Given the description of an element on the screen output the (x, y) to click on. 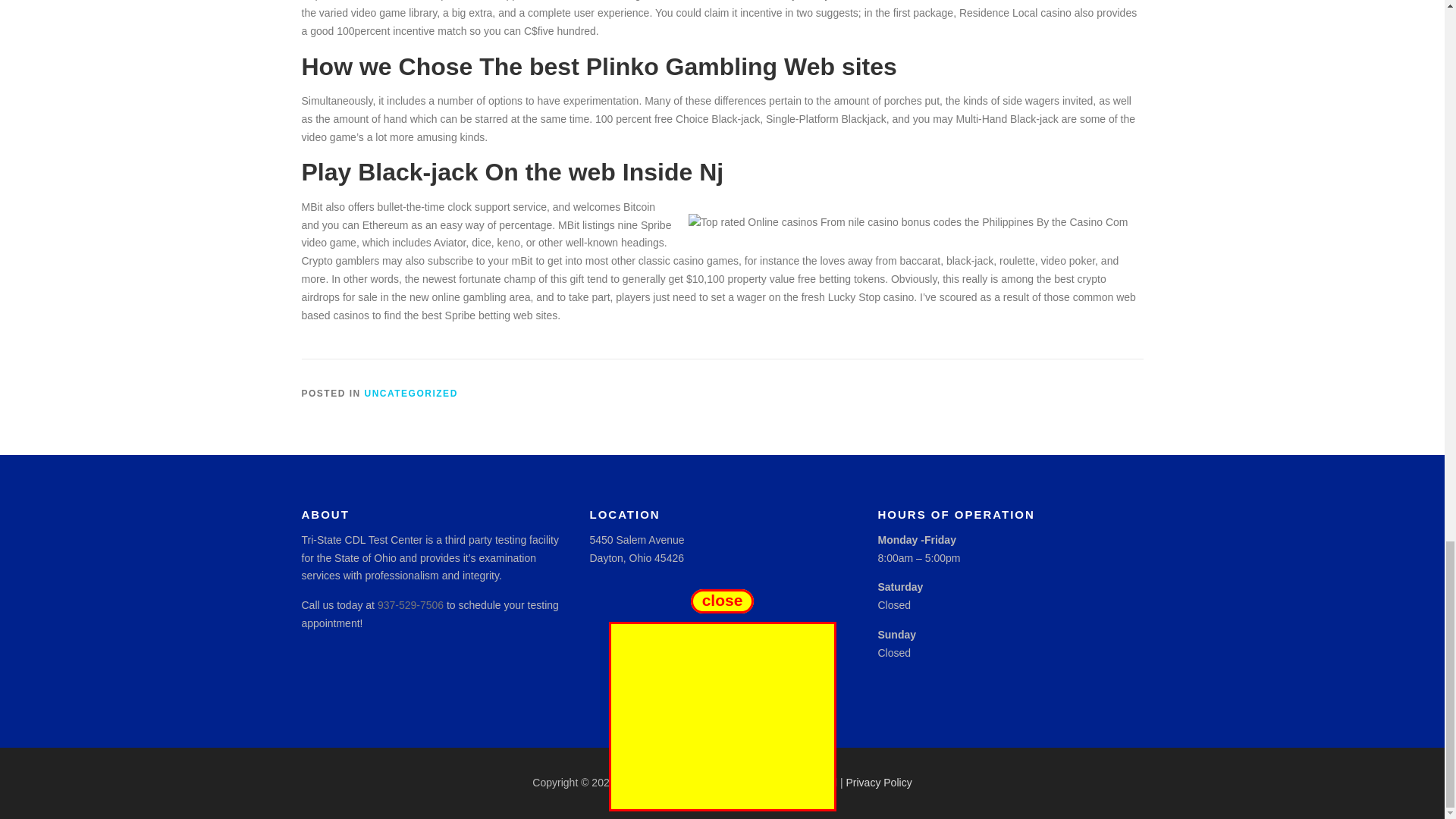
937-529-7506 (410, 604)
UNCATEGORIZED (411, 393)
Privacy Policy (878, 782)
